Given the description of an element on the screen output the (x, y) to click on. 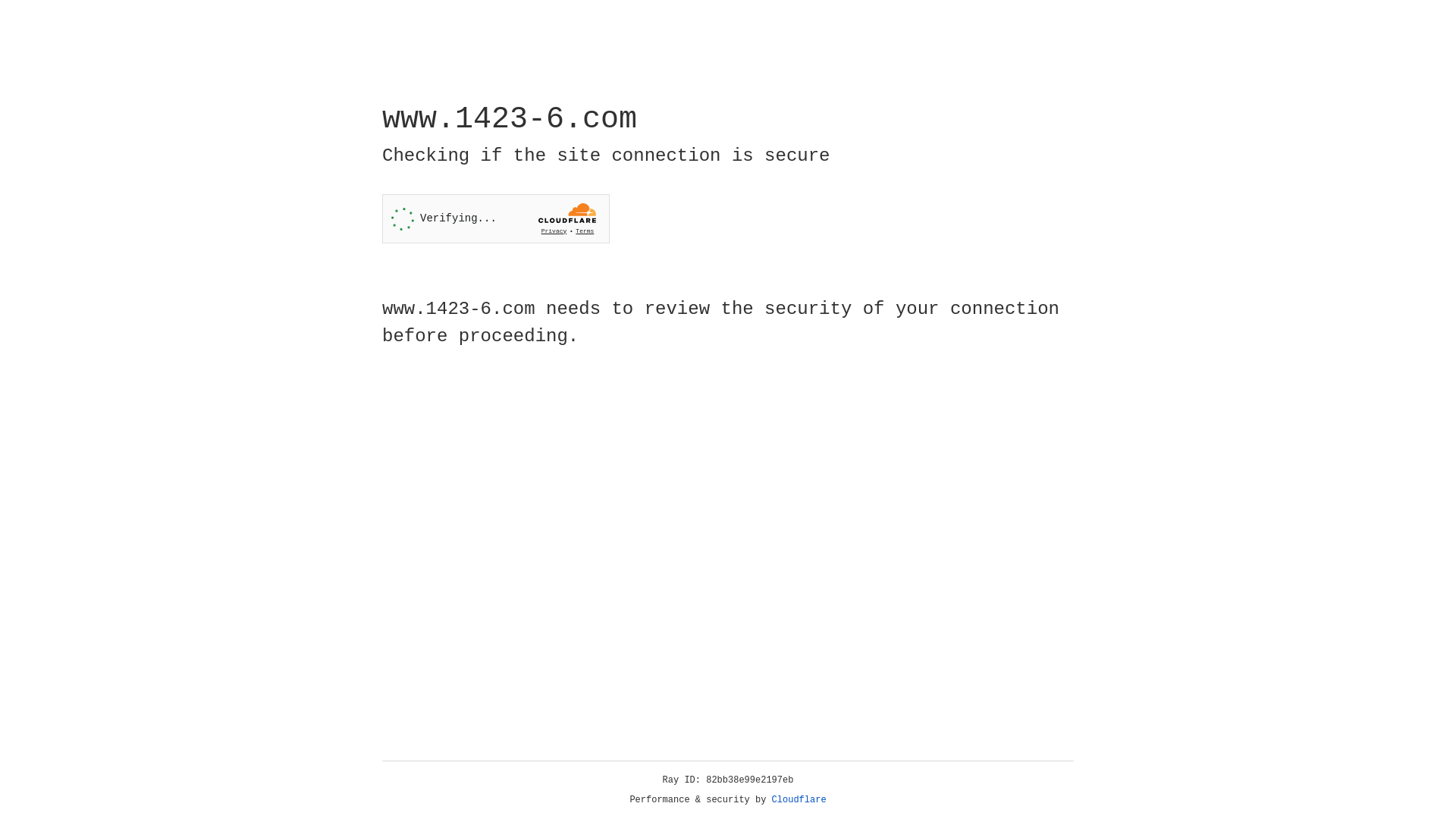
Cloudflare Element type: text (798, 799)
Widget containing a Cloudflare security challenge Element type: hover (495, 218)
